Given the description of an element on the screen output the (x, y) to click on. 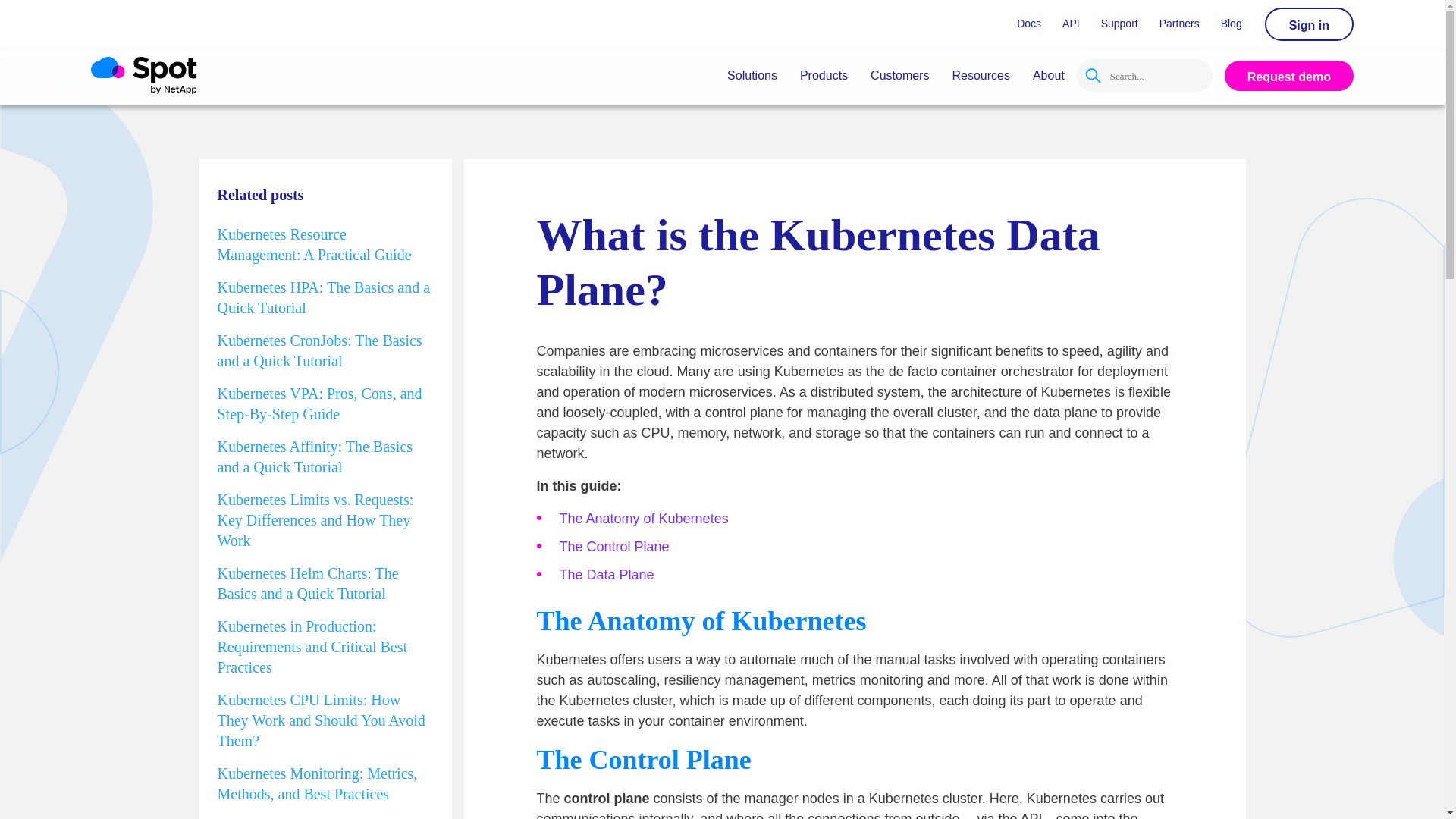
Blog (1230, 23)
Sign in (1309, 23)
Docs (1028, 23)
Solutions (752, 75)
API (1070, 23)
Support (1119, 23)
Products (824, 75)
Partners (1178, 23)
